Given the description of an element on the screen output the (x, y) to click on. 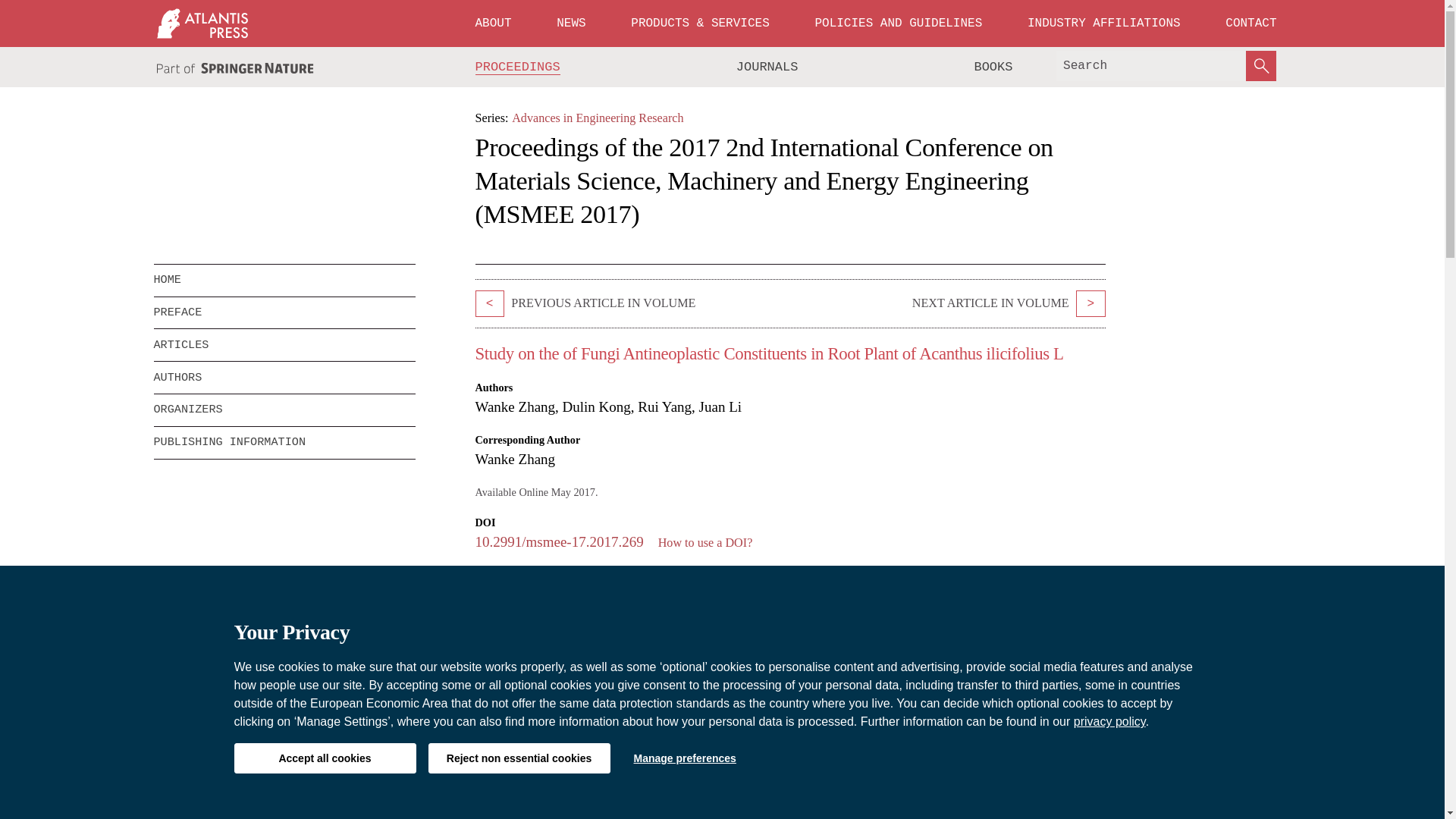
Atlantis Press is Part of Springer Nature (234, 67)
BOOKS (992, 66)
Atlantis Press (201, 23)
CONTACT (1250, 23)
PREFACE (283, 313)
privacy policy (1109, 721)
Reject non essential cookies (519, 757)
ARTICLES (283, 345)
INDUSTRY AFFILIATIONS (1104, 23)
